Given the description of an element on the screen output the (x, y) to click on. 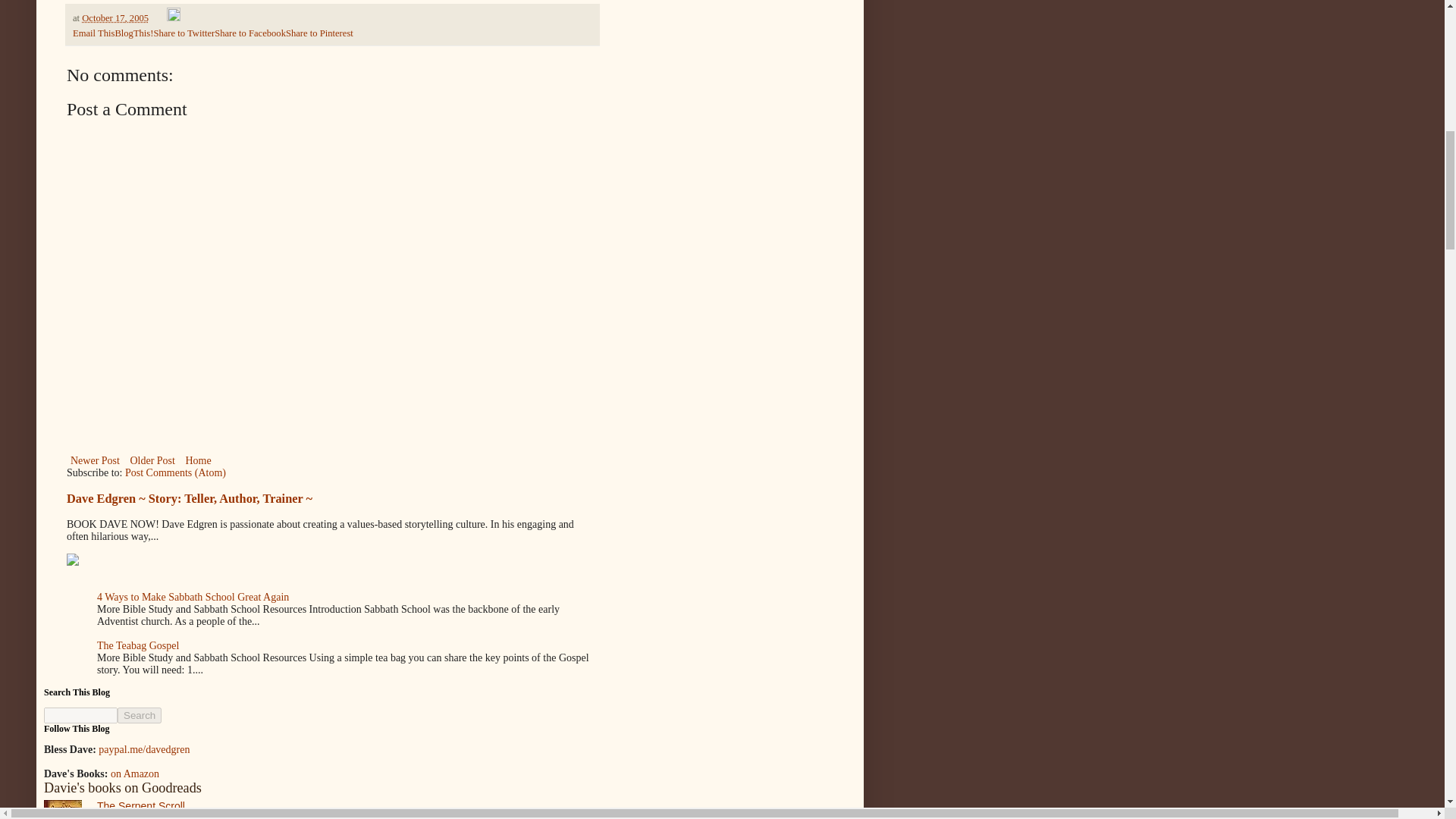
permanent link (114, 18)
October 17, 2005 (114, 18)
Search (139, 715)
Older Post (152, 460)
4 Ways to Make Sabbath School Great Again (192, 596)
BlogThis! (133, 32)
Share to Twitter (183, 32)
search (80, 715)
Newer Post (94, 460)
Search (139, 715)
Edit Post (173, 18)
search (139, 715)
Share to Pinterest (319, 32)
Email This (93, 32)
Newer Post (94, 460)
